Given the description of an element on the screen output the (x, y) to click on. 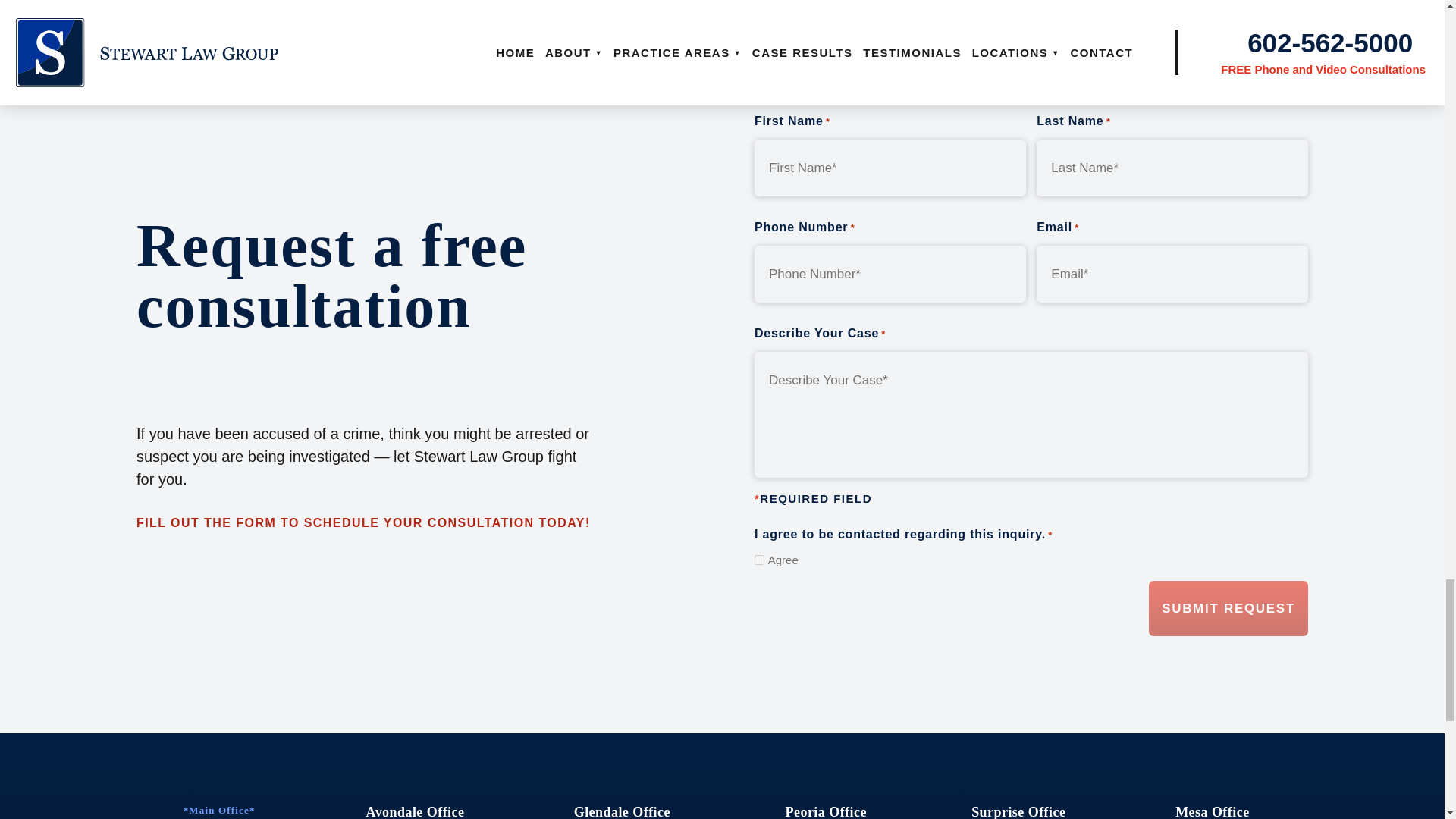
Submit Request (1227, 608)
Agree (759, 560)
